Given the description of an element on the screen output the (x, y) to click on. 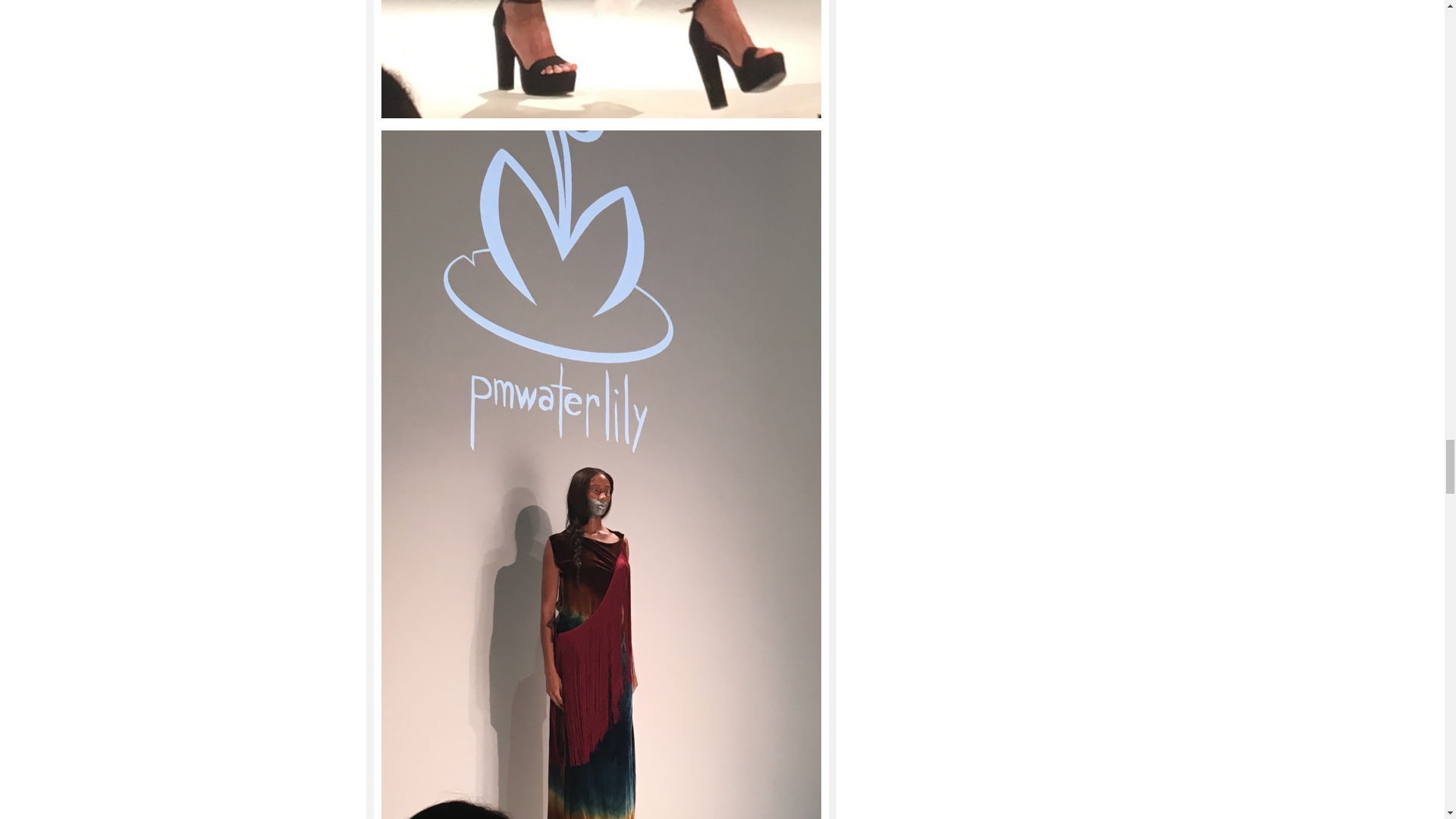
5-patricia-michaels-style-fashion-week-gold-front (600, 58)
